Given the description of an element on the screen output the (x, y) to click on. 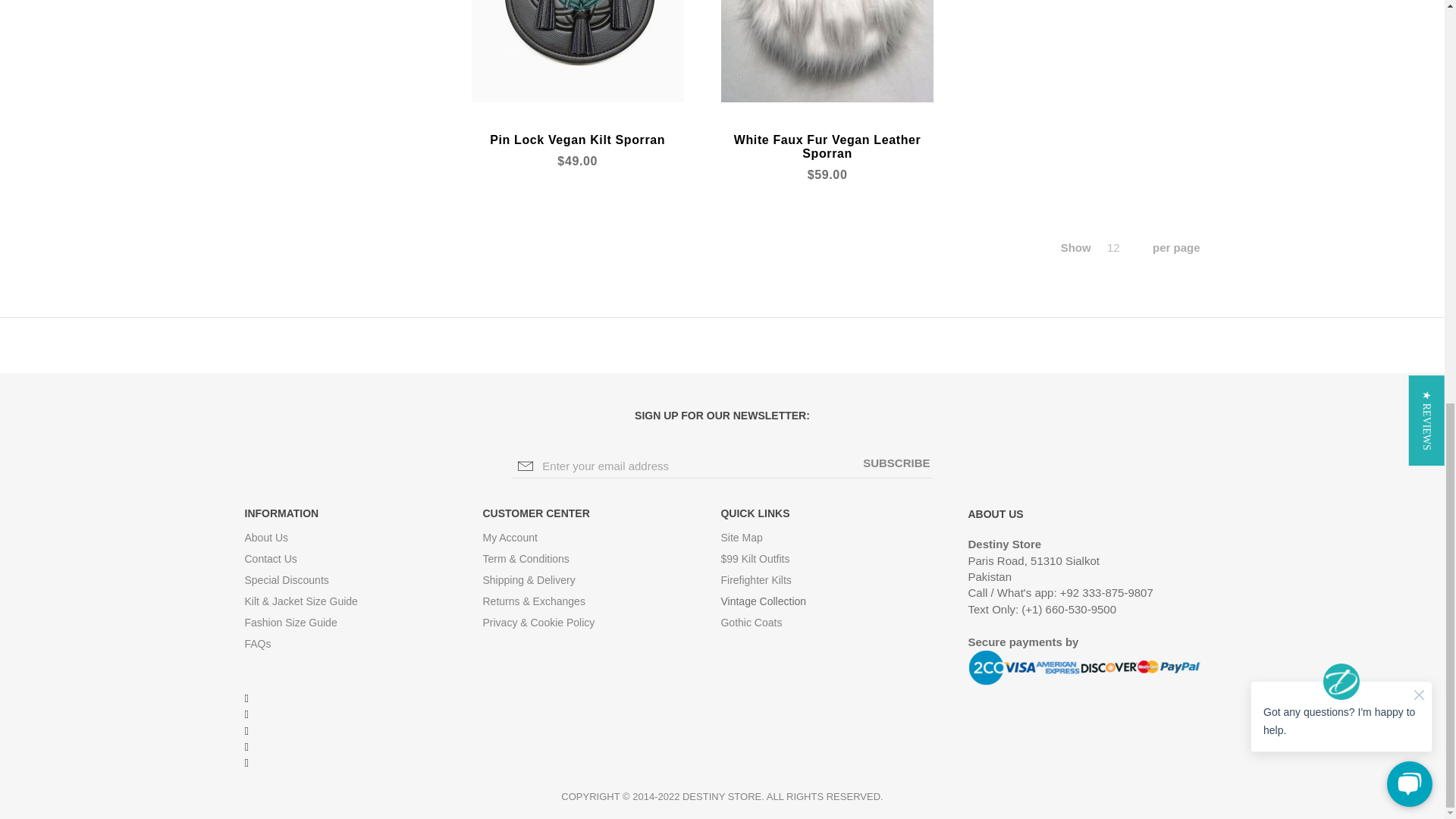
Subscribe (895, 462)
